Given the description of an element on the screen output the (x, y) to click on. 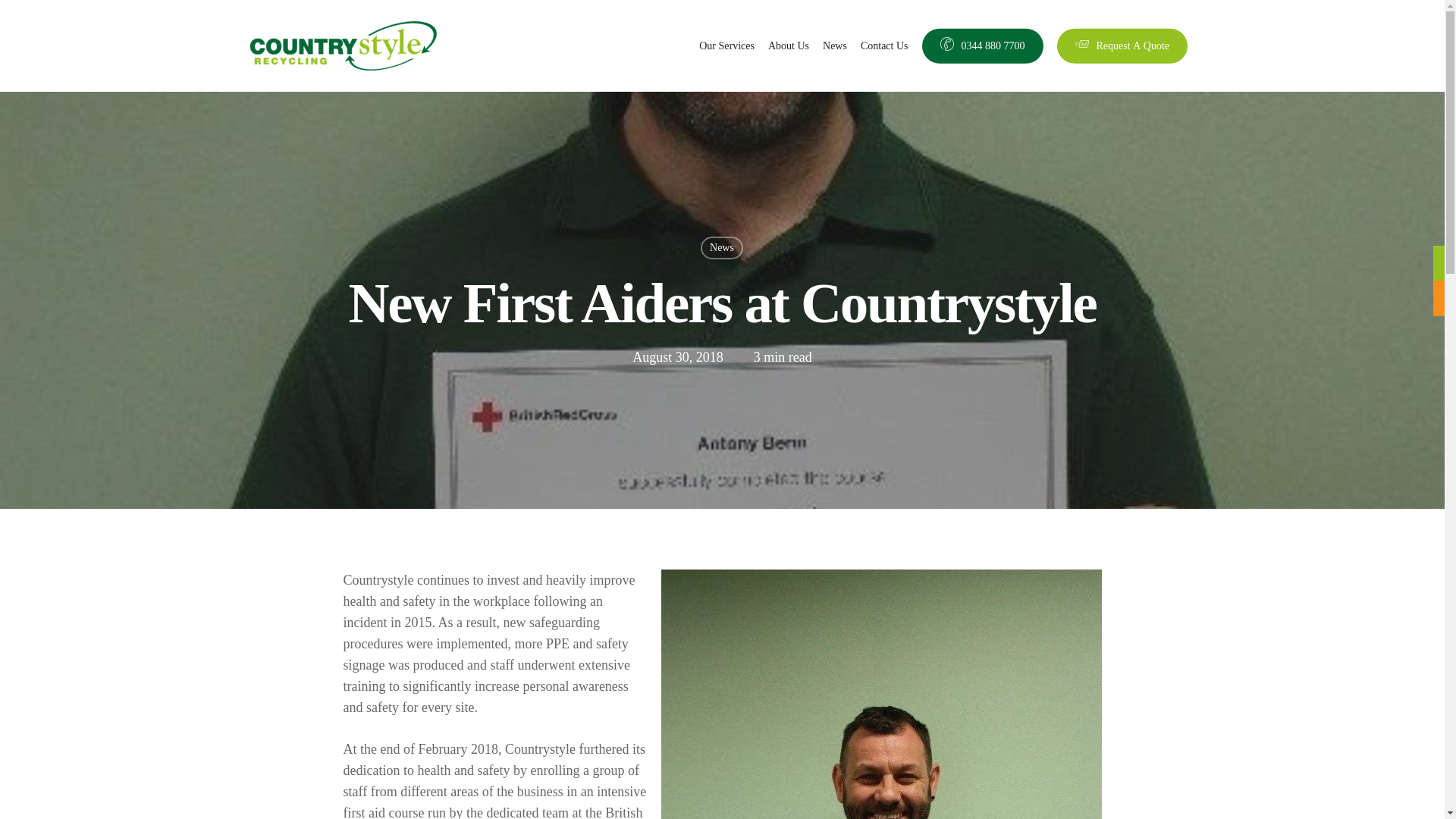
0344 880 7700 (982, 45)
News (721, 247)
About Us (788, 46)
Request A Quote (1122, 45)
Contact Us (884, 46)
News (834, 46)
Our Services (726, 46)
